Given the description of an element on the screen output the (x, y) to click on. 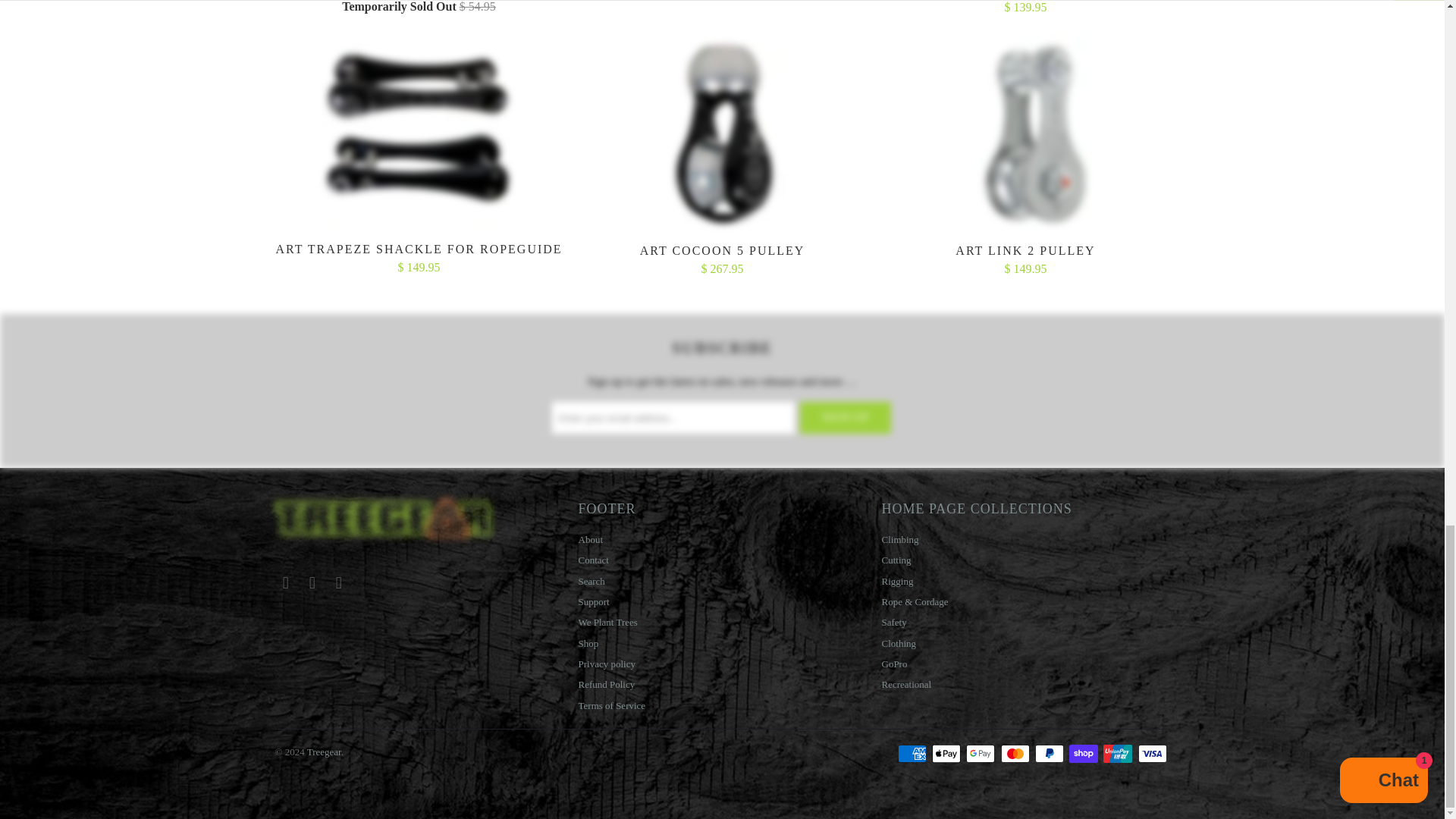
Sign Up (845, 418)
